Given the description of an element on the screen output the (x, y) to click on. 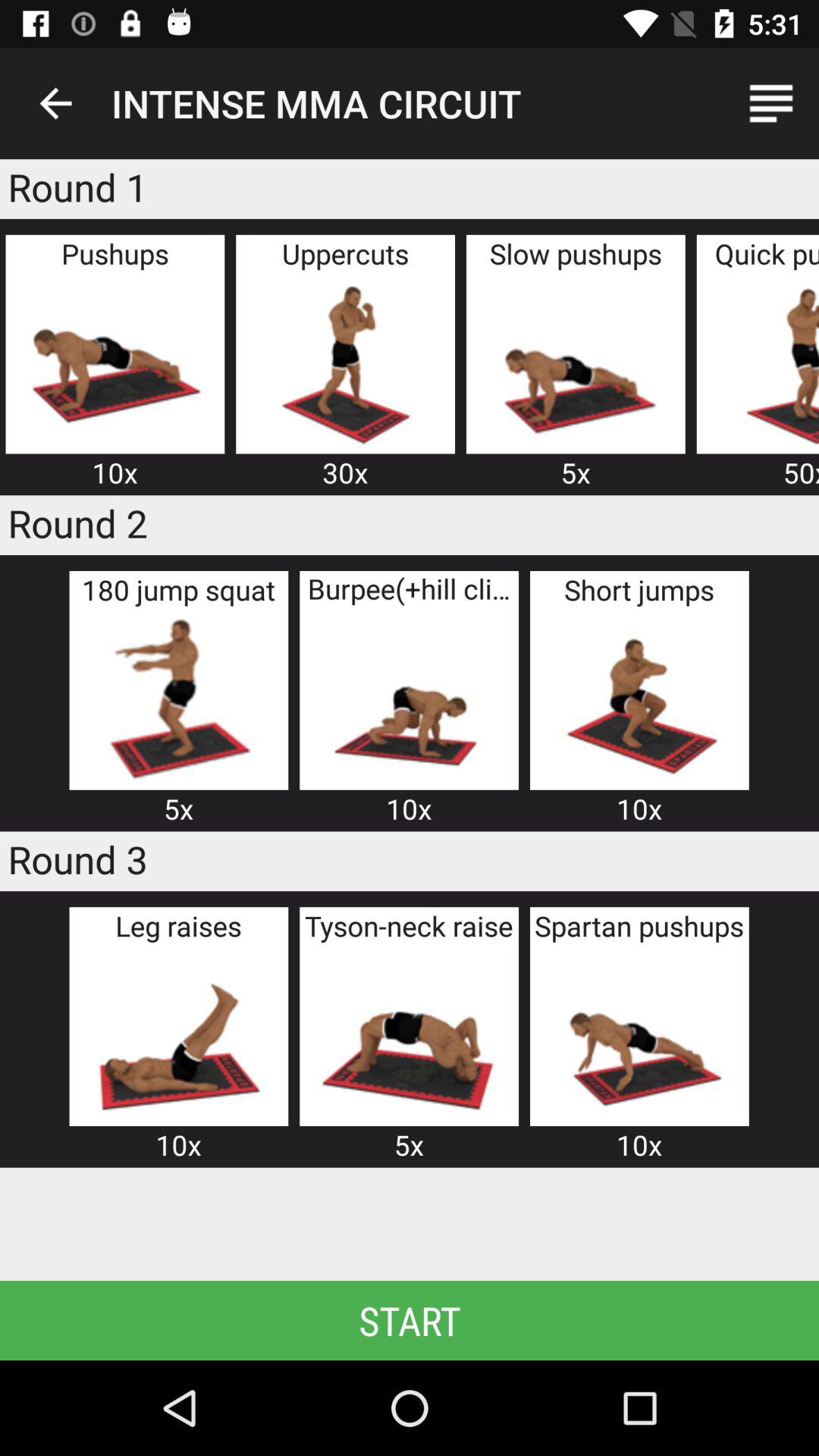
turn off item above the 5x icon (178, 698)
